Given the description of an element on the screen output the (x, y) to click on. 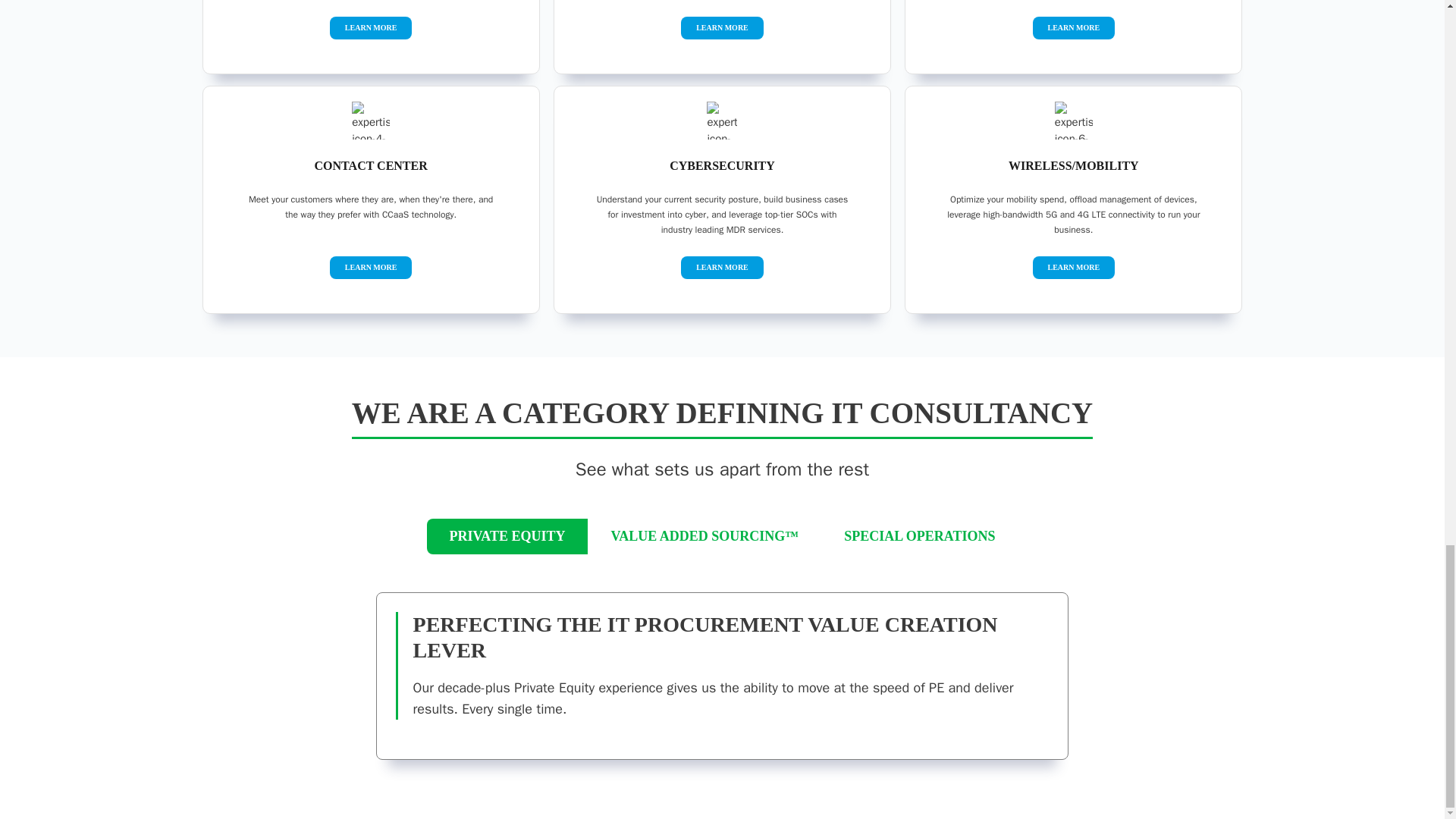
LEARN MORE (371, 27)
LEARN MORE (721, 266)
LEARN MORE (1074, 27)
SPECIAL OPERATIONS (919, 535)
LEARN MORE (1074, 266)
LEARN MORE (371, 266)
LEARN MORE (721, 27)
PRIVATE EQUITY (507, 535)
